Given the description of an element on the screen output the (x, y) to click on. 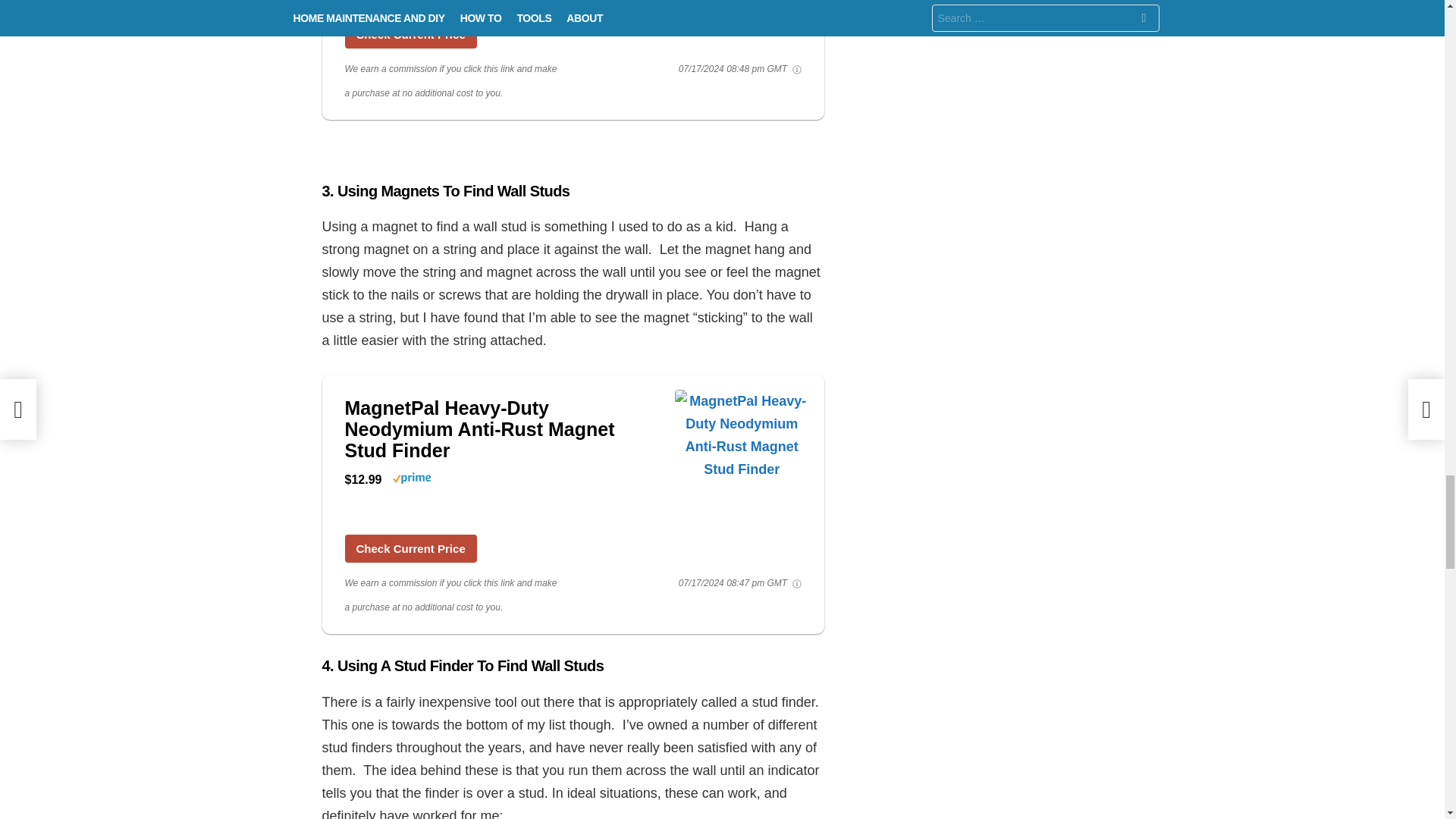
MagnetPal Heavy-Duty Neodymium Anti-Rust Magnet Stud Finder (742, 472)
Stanley16-Foot PowerLock Tape Rule (409, 34)
MagnetPal Heavy-Duty Neodymium Anti-Rust Magnet Stud Finder (409, 548)
Check Current Price (409, 34)
Stanley16-Foot PowerLock Tape Rule (742, 4)
MagnetPal Heavy-Duty Neodymium Anti-Rust Magnet Stud Finder (501, 429)
Check Current Price (409, 548)
MagnetPal Heavy-Duty Neodymium Anti-Rust Magnet Stud Finder (501, 429)
